Given the description of an element on the screen output the (x, y) to click on. 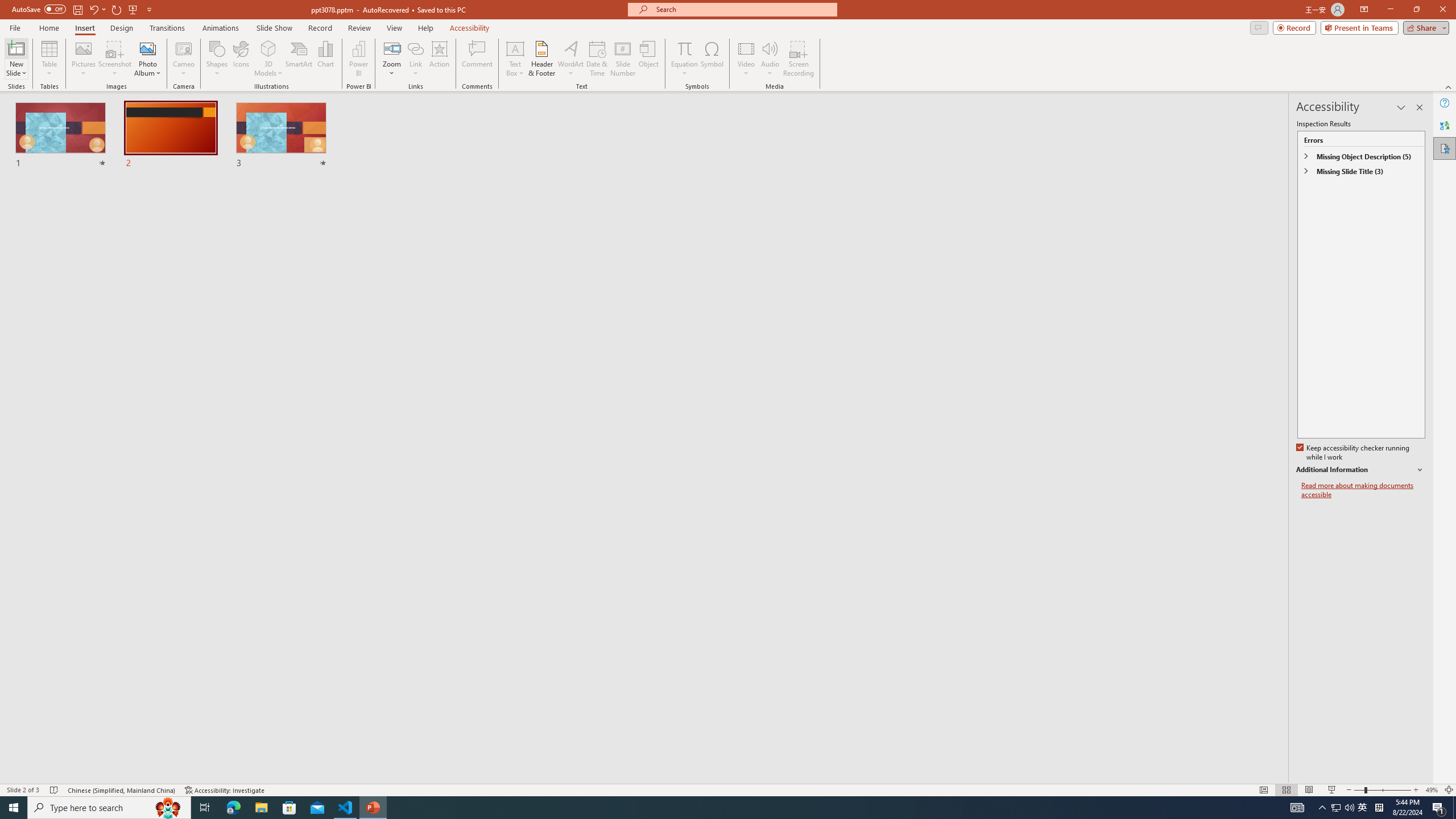
Icons (240, 58)
3D Models (268, 58)
Slide Number (622, 58)
Link (415, 48)
